Given the description of an element on the screen output the (x, y) to click on. 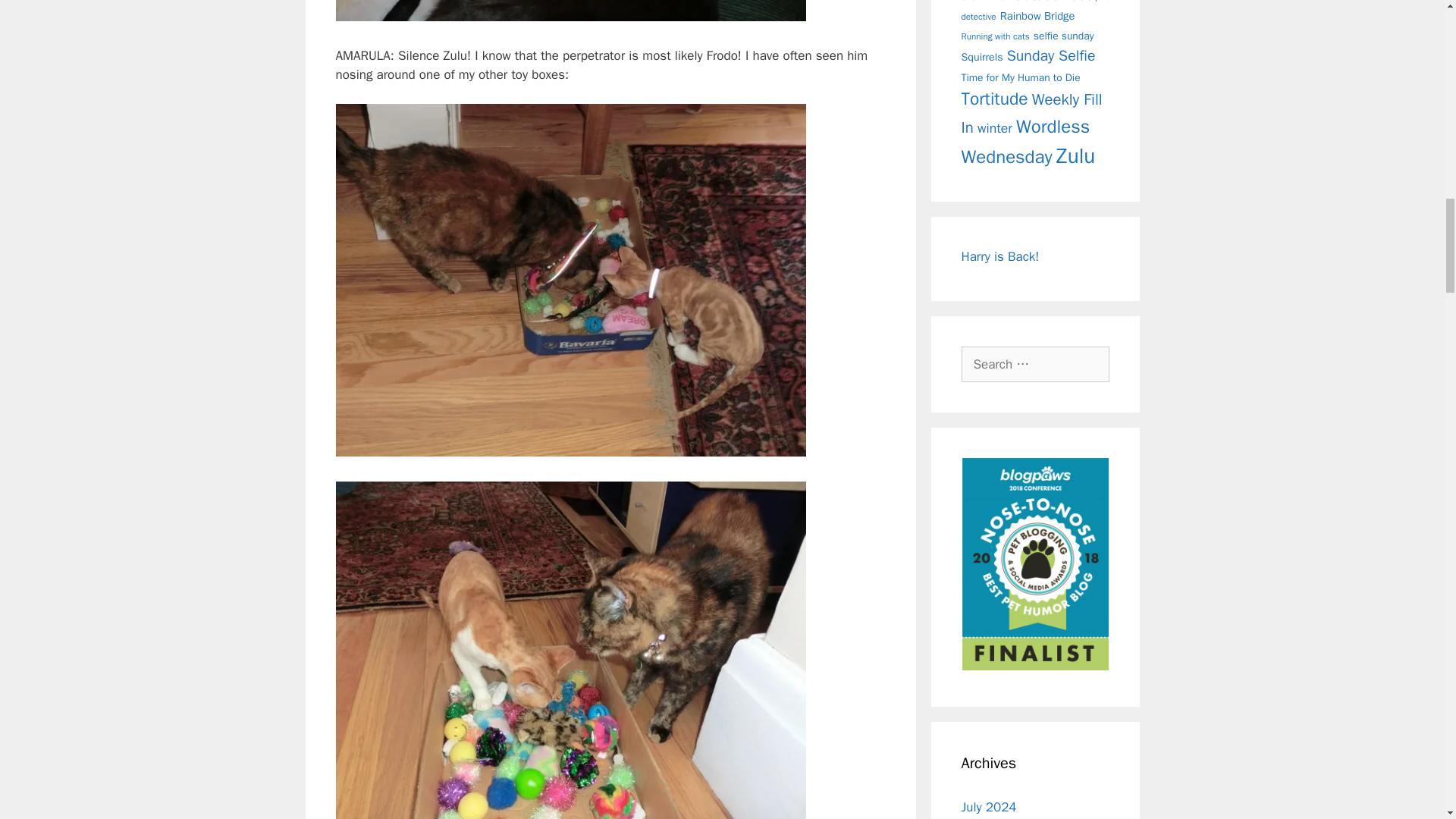
Search for: (1034, 364)
